Given the description of an element on the screen output the (x, y) to click on. 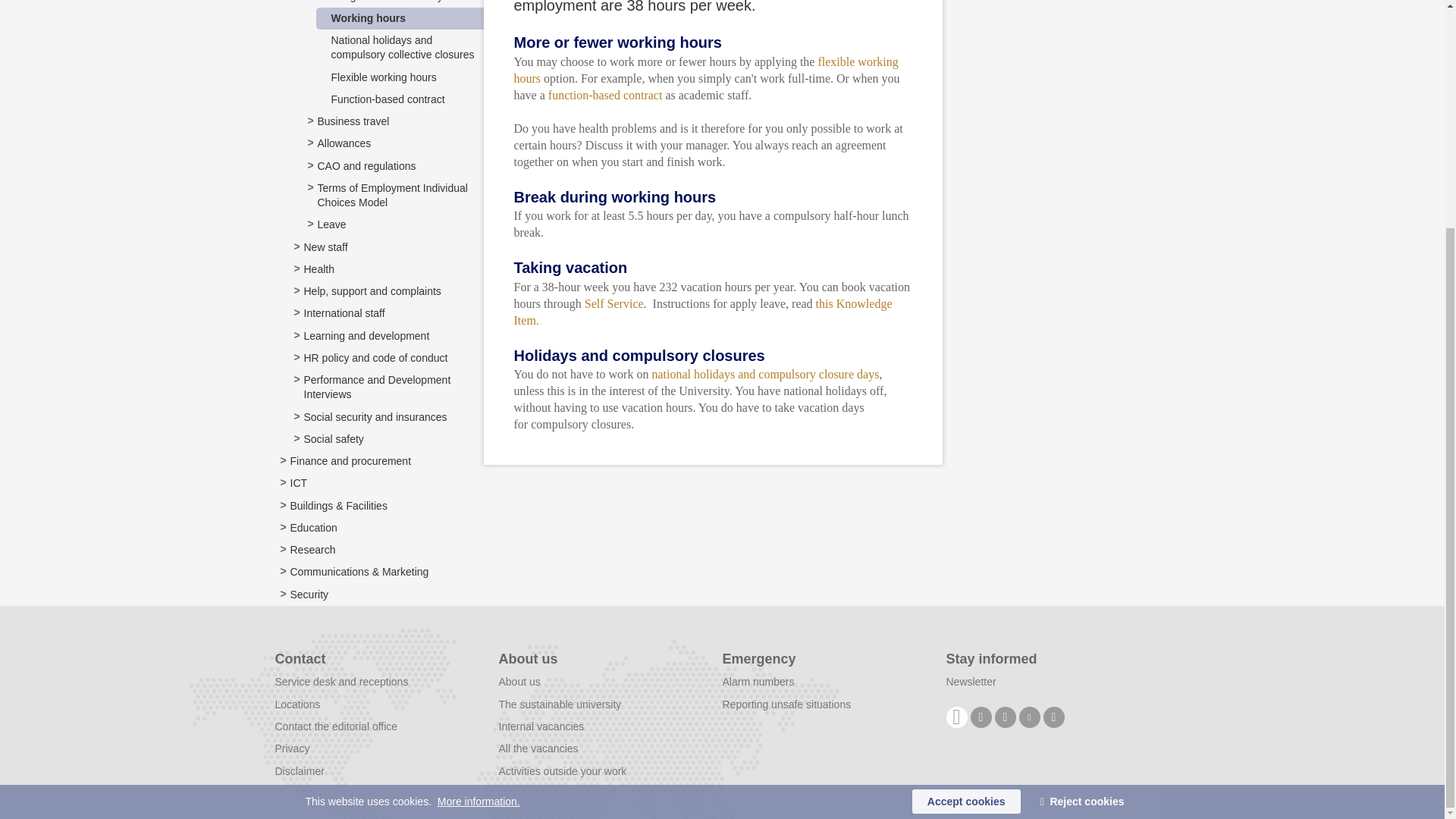
Business travel (352, 121)
Flexible working hours (382, 77)
National holidays and compulsory collective closures (402, 47)
Working hours and holidays (382, 1)
Function-based contract (387, 99)
Working hours (368, 18)
